Given the description of an element on the screen output the (x, y) to click on. 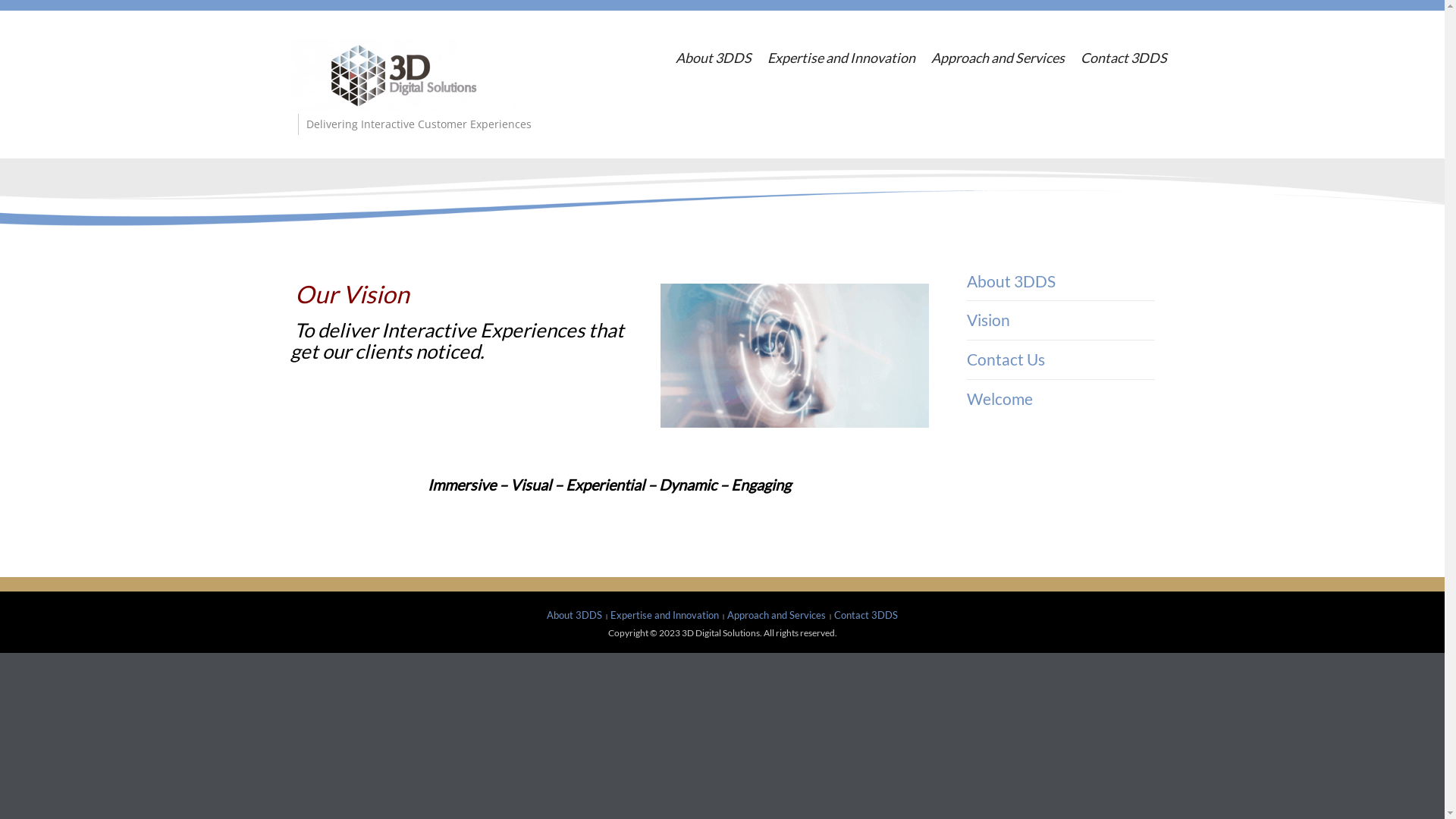
Vision Element type: text (988, 319)
Contact 3DDS Element type: text (865, 614)
About 3DDS Element type: text (574, 614)
About 3DDS Element type: text (1010, 280)
Contact Us Element type: text (1005, 358)
Welcome Element type: text (999, 398)
About 3DDS Element type: text (713, 57)
Expertise and Innovation Element type: text (664, 614)
Contact 3DDS Element type: text (1123, 57)
Approach and Services Element type: text (997, 57)
Approach and Services Element type: text (776, 614)
Expertise and Innovation Element type: text (841, 57)
